Given the description of an element on the screen output the (x, y) to click on. 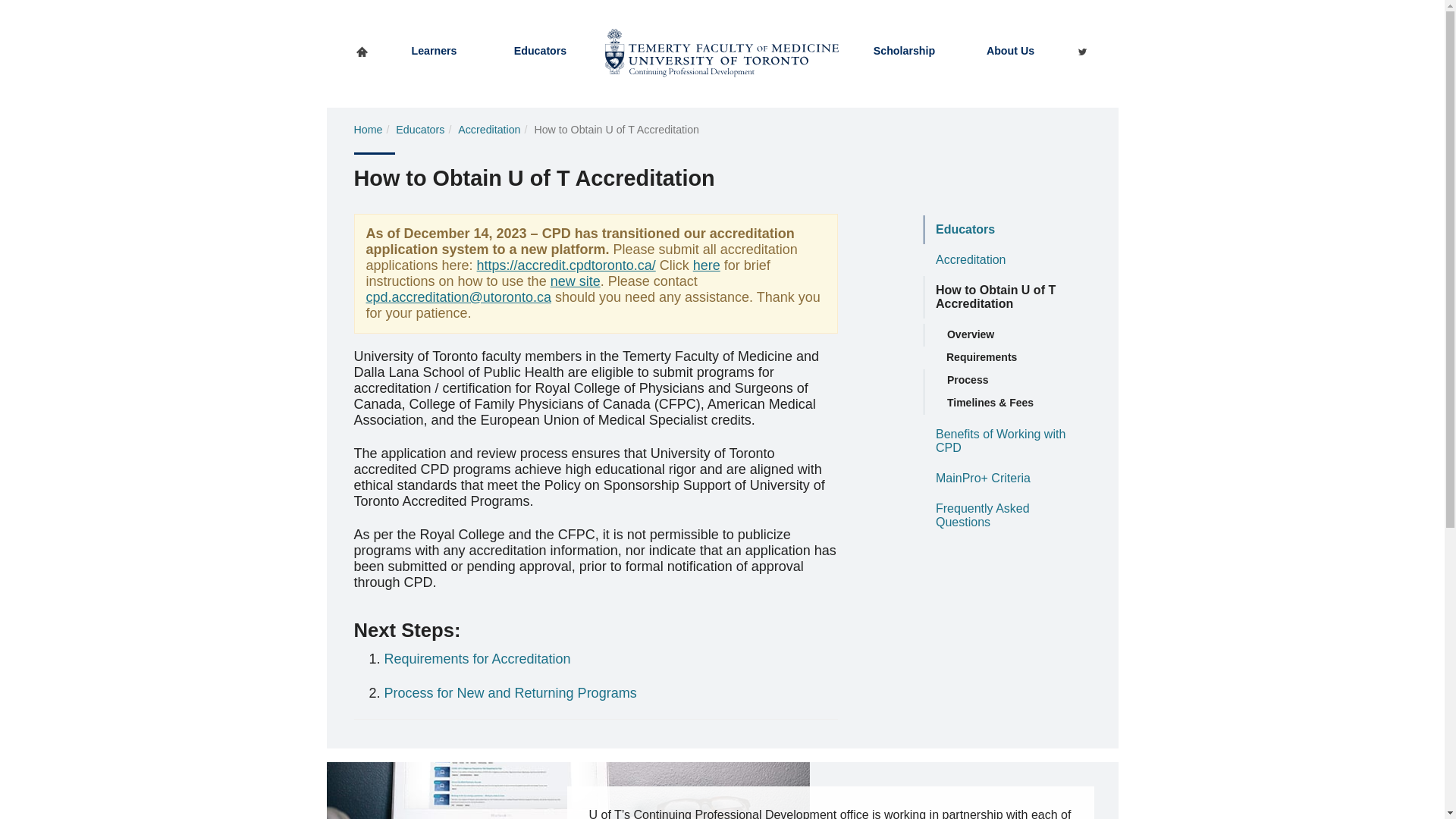
Process for New and Returning Programs (510, 693)
Educators (420, 129)
Benefits of Working with CPD (1006, 441)
Requirements (1006, 357)
Learners (433, 50)
Benefits of Working with CPD (1006, 441)
Accreditation (1006, 259)
here (706, 264)
Accreditation (488, 129)
Scholarship (903, 50)
Overview (1006, 334)
How to Obtain U of T Accreditation (1006, 297)
Overview (1006, 334)
CPD on Twitter (1082, 50)
Frequently Asked Questions (1006, 515)
